Given the description of an element on the screen output the (x, y) to click on. 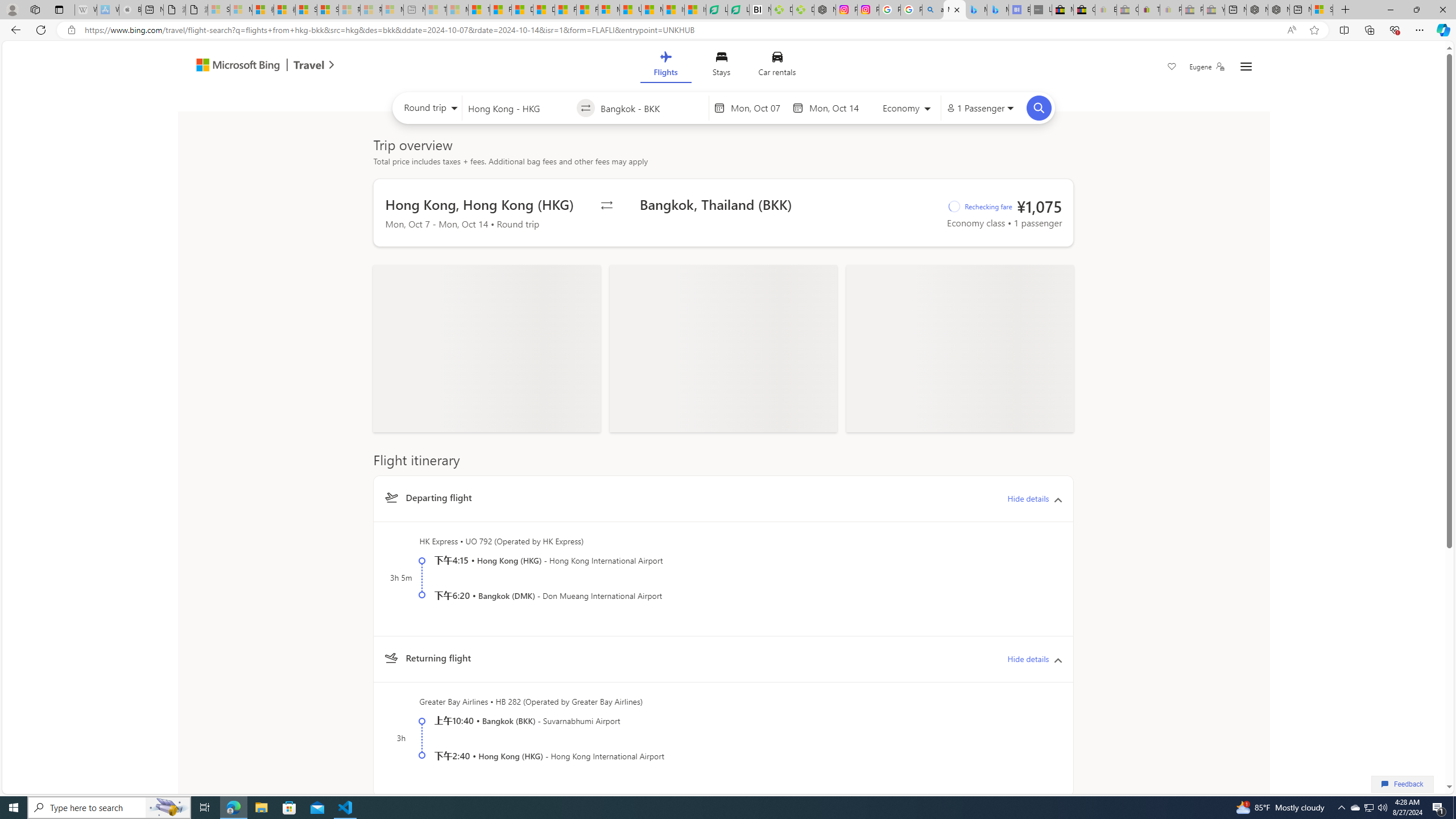
Car rentals (777, 65)
Swap source and destination (585, 108)
LendingTree - Compare Lenders (738, 9)
Foo BAR | Trusted Community Engagement and Contributions (587, 9)
Flight card (724, 659)
Nordace - Nordace Edin Collection (824, 9)
Class: trvl-hub-header nofilter (723, 65)
Select class of service (906, 109)
Microsoft Bing Travel - Shangri-La Hotel Bangkok (997, 9)
Microsoft account | Account Checkup - Sleeping (392, 9)
